Given the description of an element on the screen output the (x, y) to click on. 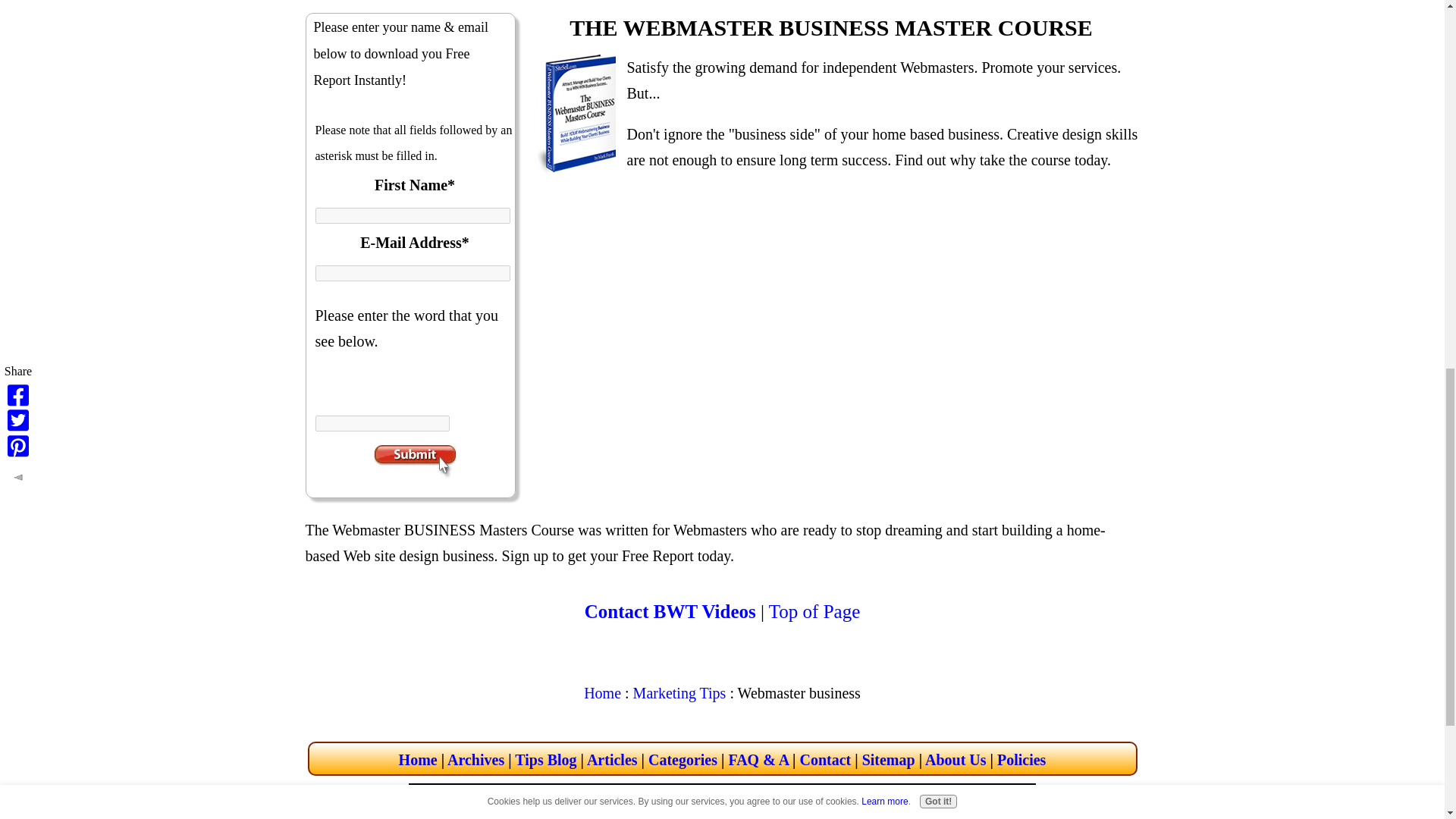
privacy policy (1021, 759)
Review This Website (912, 805)
Contact BWT Videos (670, 611)
Subscribe (413, 462)
Review BWT on GMB (911, 806)
BWT YouTube Channel (835, 806)
